Given the description of an element on the screen output the (x, y) to click on. 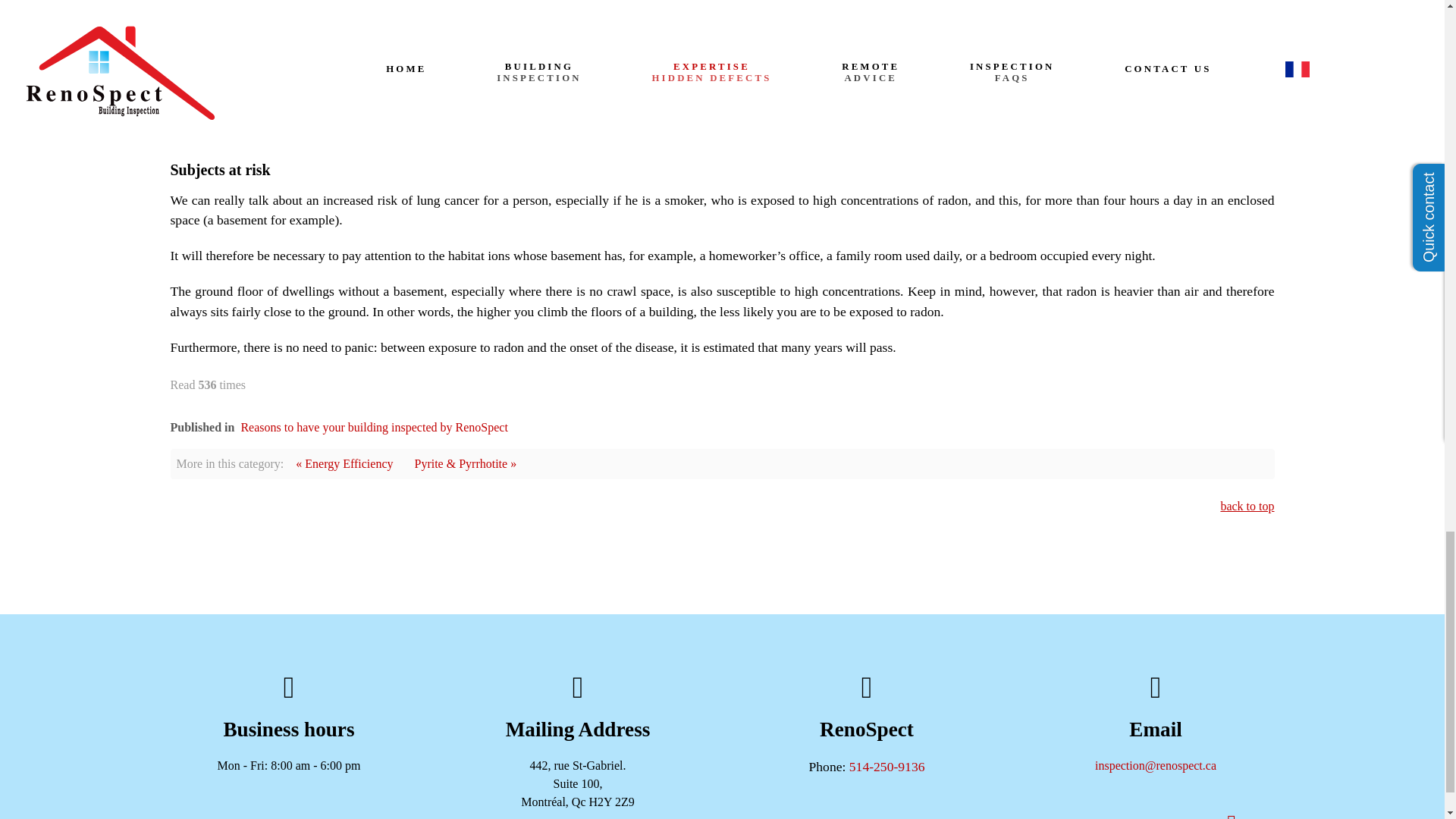
Reasons to have your building inspected by RenoSpect (373, 427)
514-250-9136 (886, 766)
back to top (1247, 505)
